Given the description of an element on the screen output the (x, y) to click on. 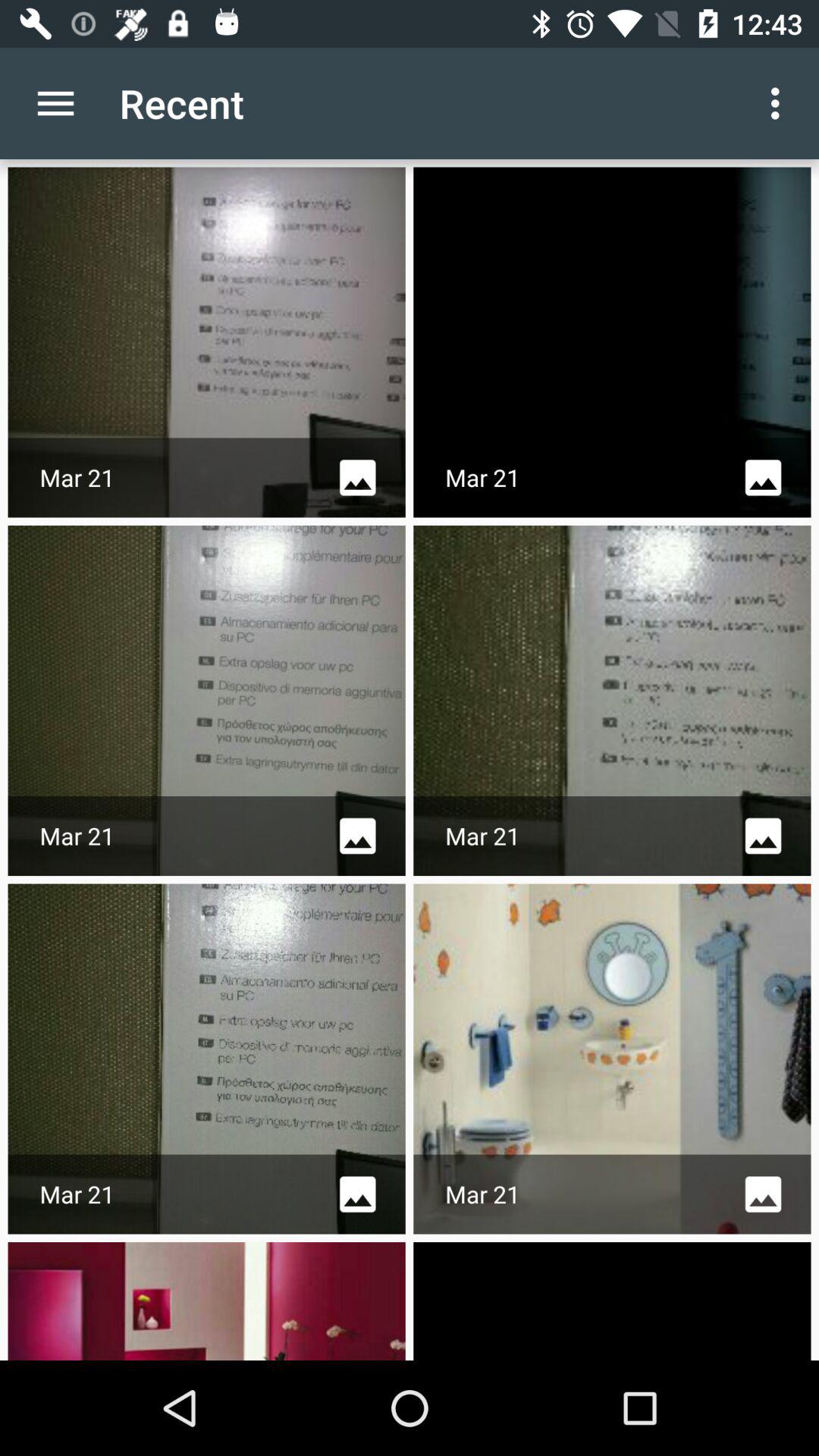
turn on icon to the right of recent (779, 103)
